Given the description of an element on the screen output the (x, y) to click on. 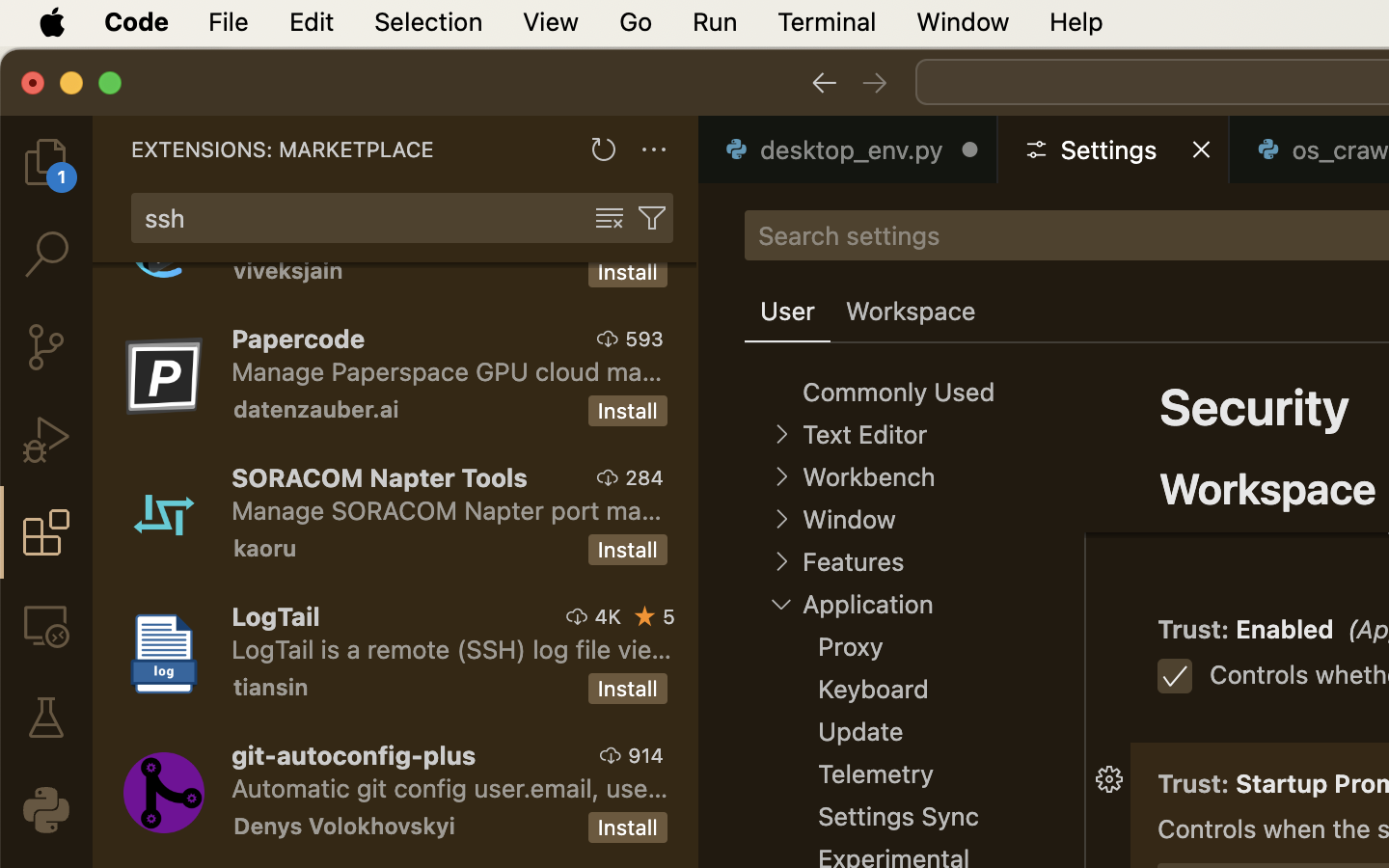
Papercode Element type: AXStaticText (298, 338)
viveksjain Element type: AXStaticText (288, 272)
Update Element type: AXStaticText (860, 731)
 Element type: AXGroup (46, 717)
EXTENSIONS: MARKETPLACE Element type: AXStaticText (282, 149)
